Given the description of an element on the screen output the (x, y) to click on. 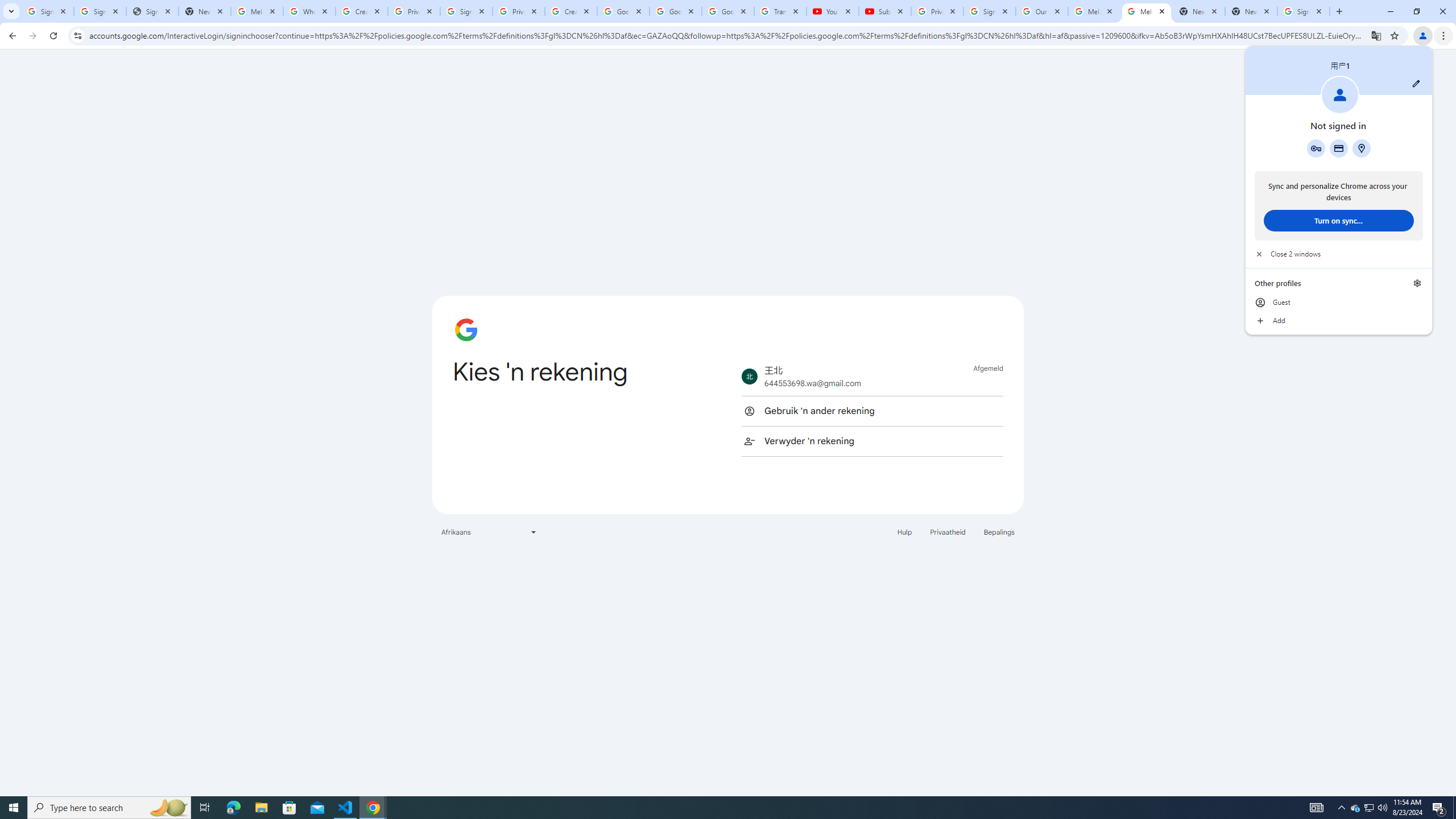
Sign in - Google Accounts (47, 11)
New Tab (1251, 11)
Add (1338, 321)
Show desktop (1454, 807)
Create your Google Account (571, 11)
Start (1355, 807)
Translate this page (13, 807)
Notification Chevron (1376, 35)
Type here to search (1341, 807)
